Given the description of an element on the screen output the (x, y) to click on. 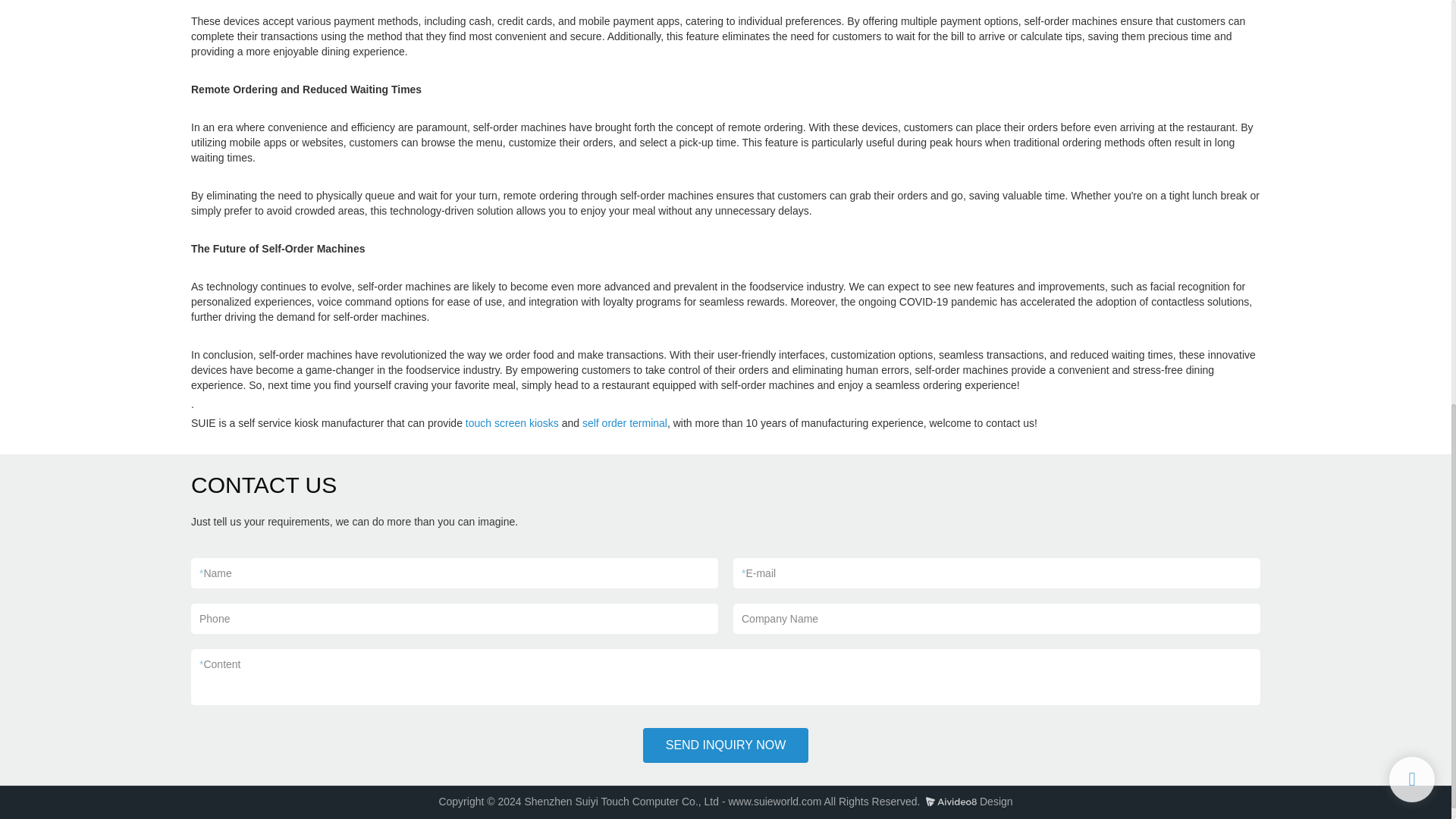
touch screen kiosks (512, 422)
touch screen kiosks (512, 422)
SEND INQUIRY NOW (726, 745)
self order terminal (624, 422)
self order terminal (624, 422)
